Given the description of an element on the screen output the (x, y) to click on. 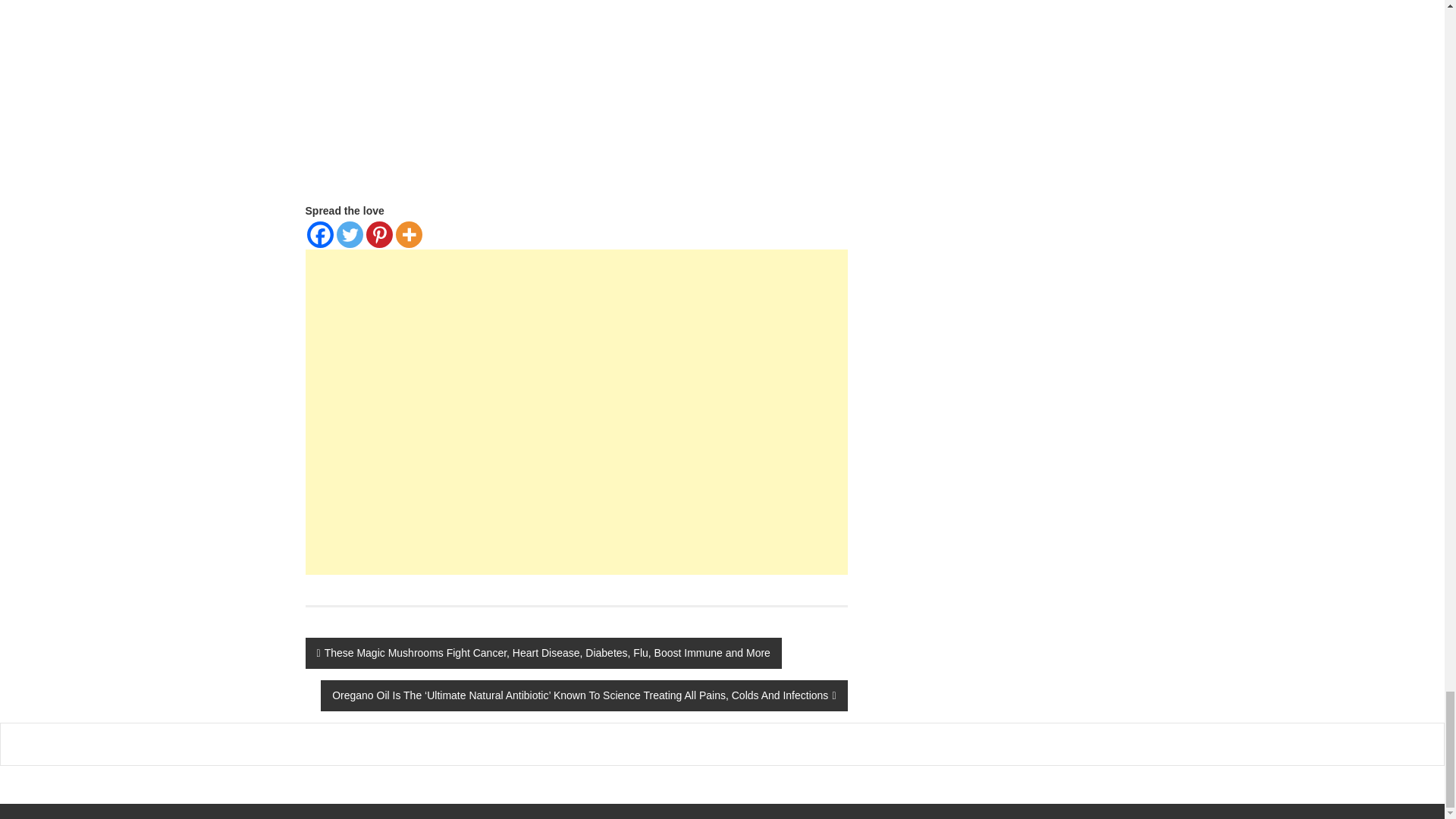
Facebook (319, 234)
Pinterest (378, 234)
Twitter (349, 234)
More (409, 234)
